Given the description of an element on the screen output the (x, y) to click on. 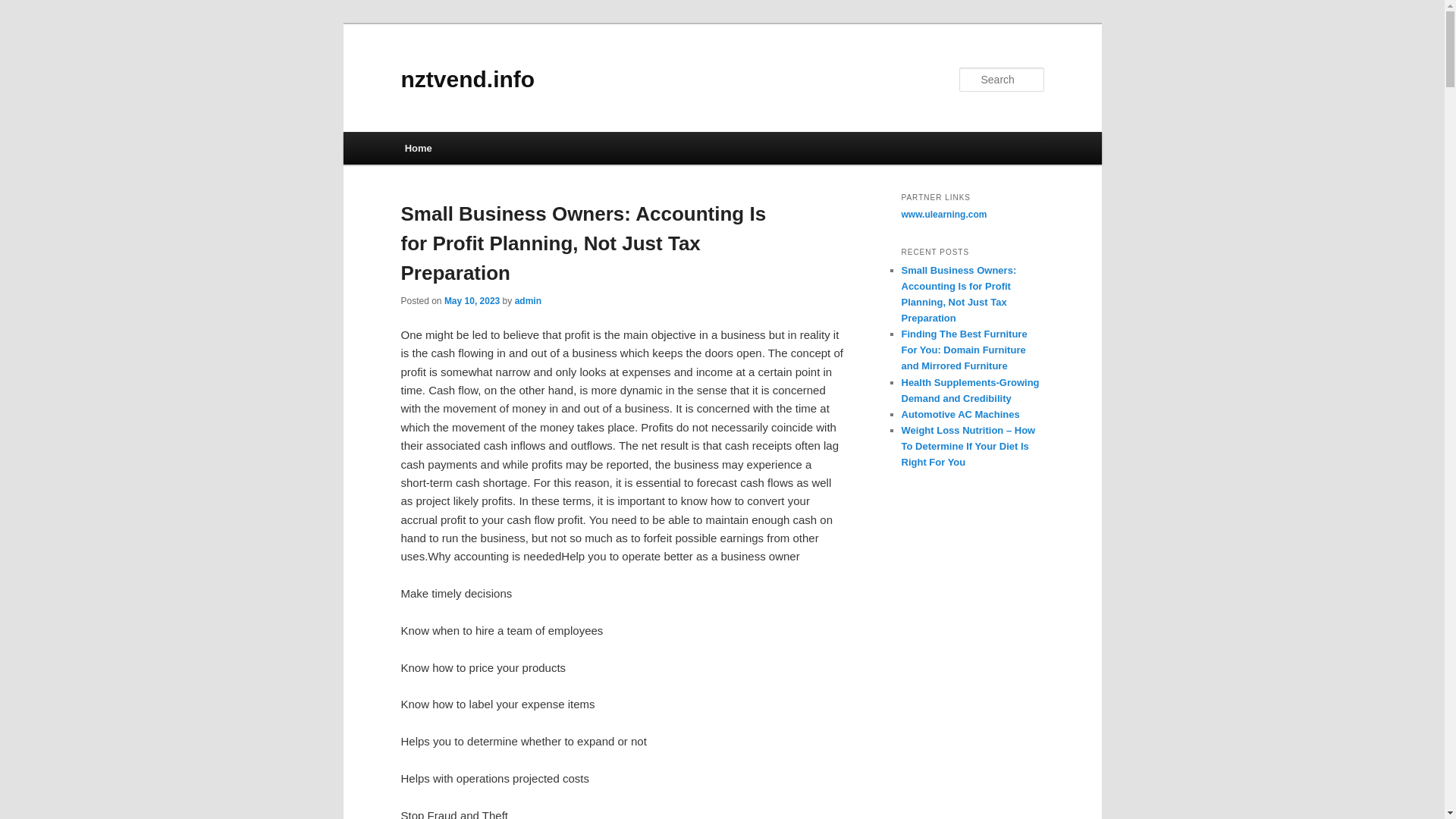
Home (418, 147)
nztvend.info (467, 78)
admin (528, 300)
View all posts by admin (528, 300)
Search (24, 8)
May 10, 2023 (471, 300)
Home (418, 147)
Health Supplements-Growing Demand and Credibility (970, 389)
7:23 am (471, 300)
